Given the description of an element on the screen output the (x, y) to click on. 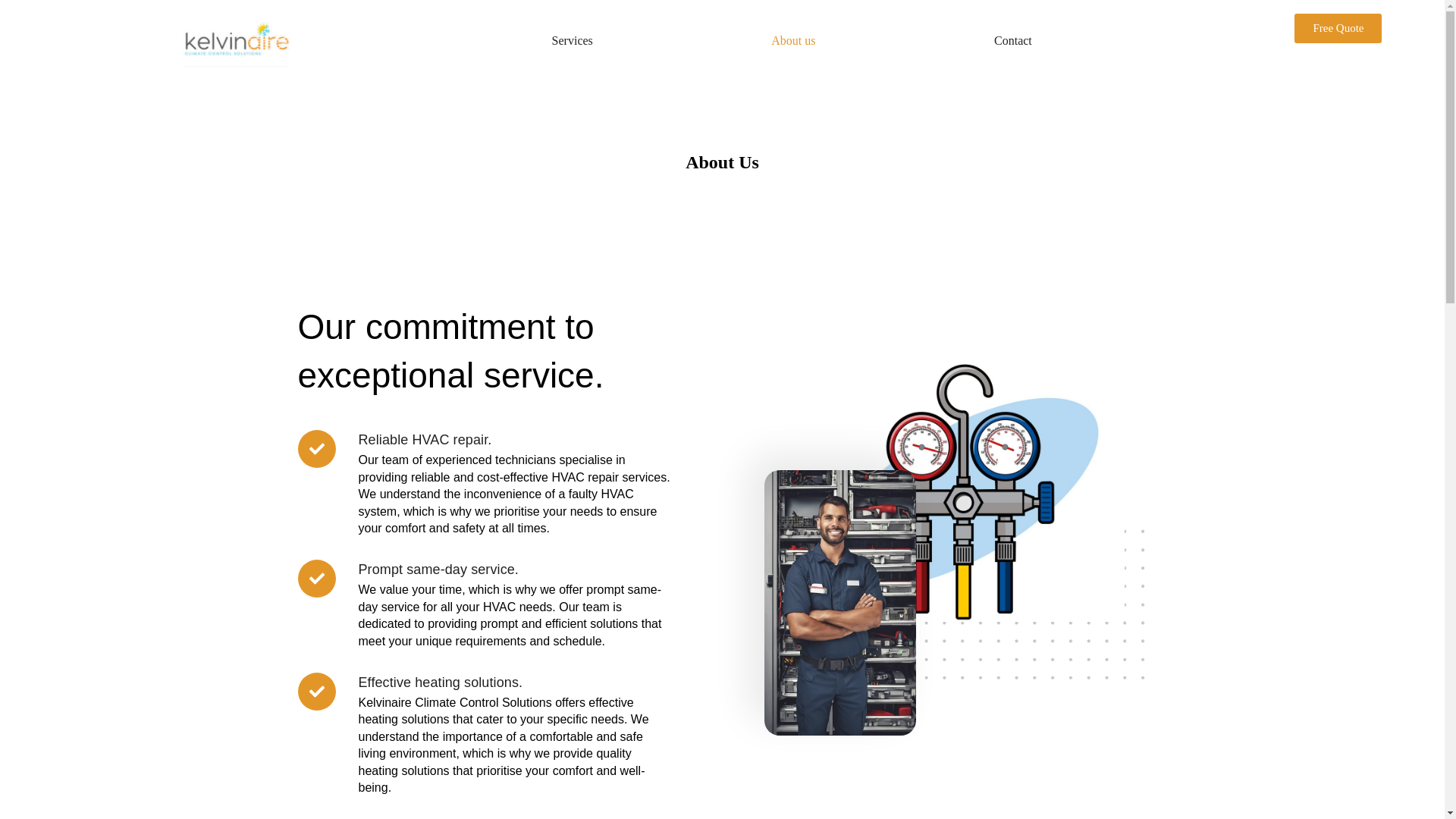
Free Quote (1337, 28)
Contact (1012, 40)
Services (572, 40)
About us (793, 40)
dots.png (1016, 610)
